Given the description of an element on the screen output the (x, y) to click on. 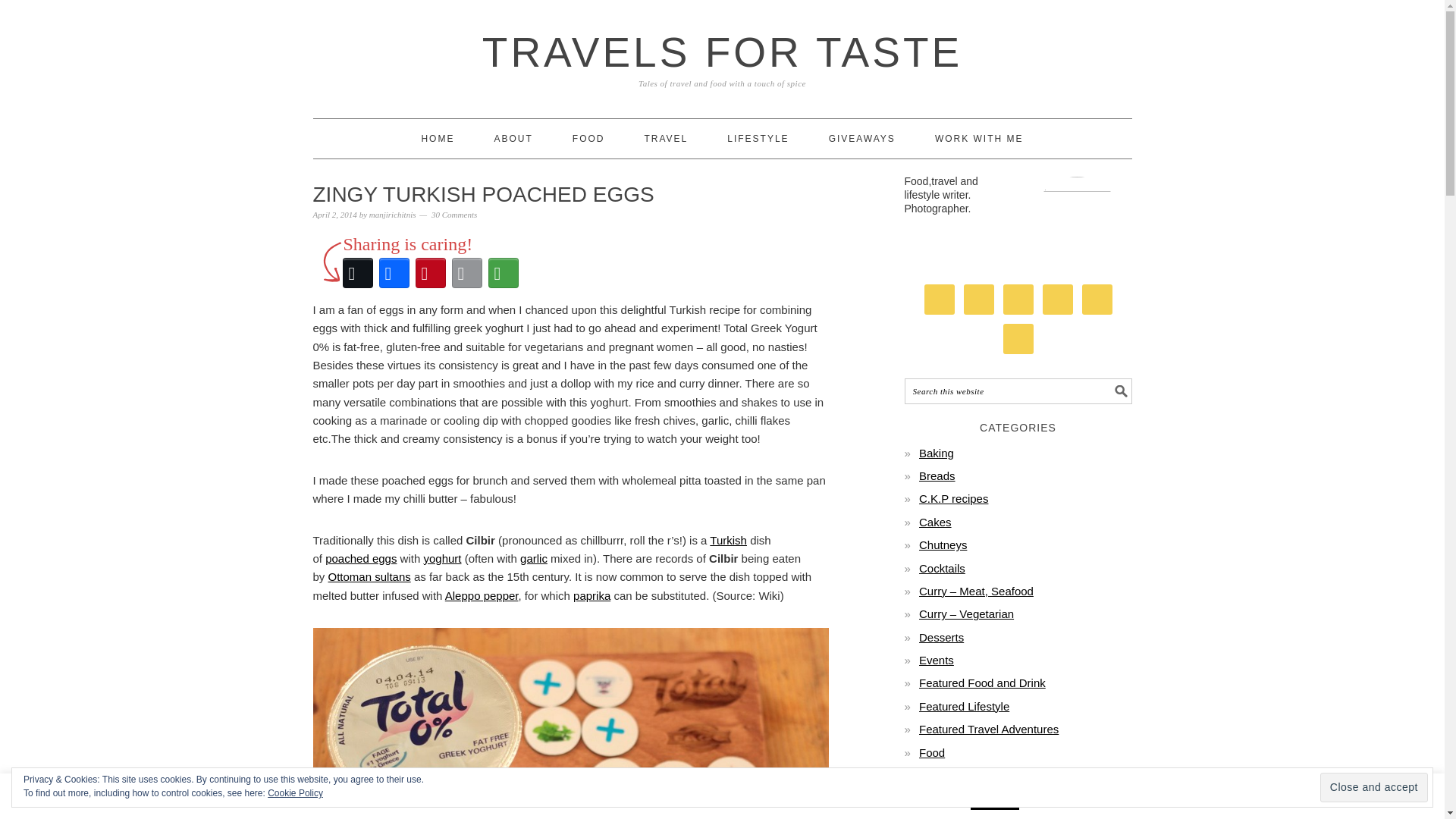
FOOD (588, 138)
GIVEAWAYS (861, 138)
WORK WITH ME (978, 138)
Turkey (728, 540)
ABOUT (512, 138)
Poached egg (360, 558)
Pinterest (430, 272)
Ottoman sultans (369, 576)
manjirichitnis (392, 214)
Yogurt (442, 558)
Garlic (533, 558)
Aleppo pepper (481, 594)
Facebook (393, 272)
TRAVELS FOR TASTE (721, 52)
